Given the description of an element on the screen output the (x, y) to click on. 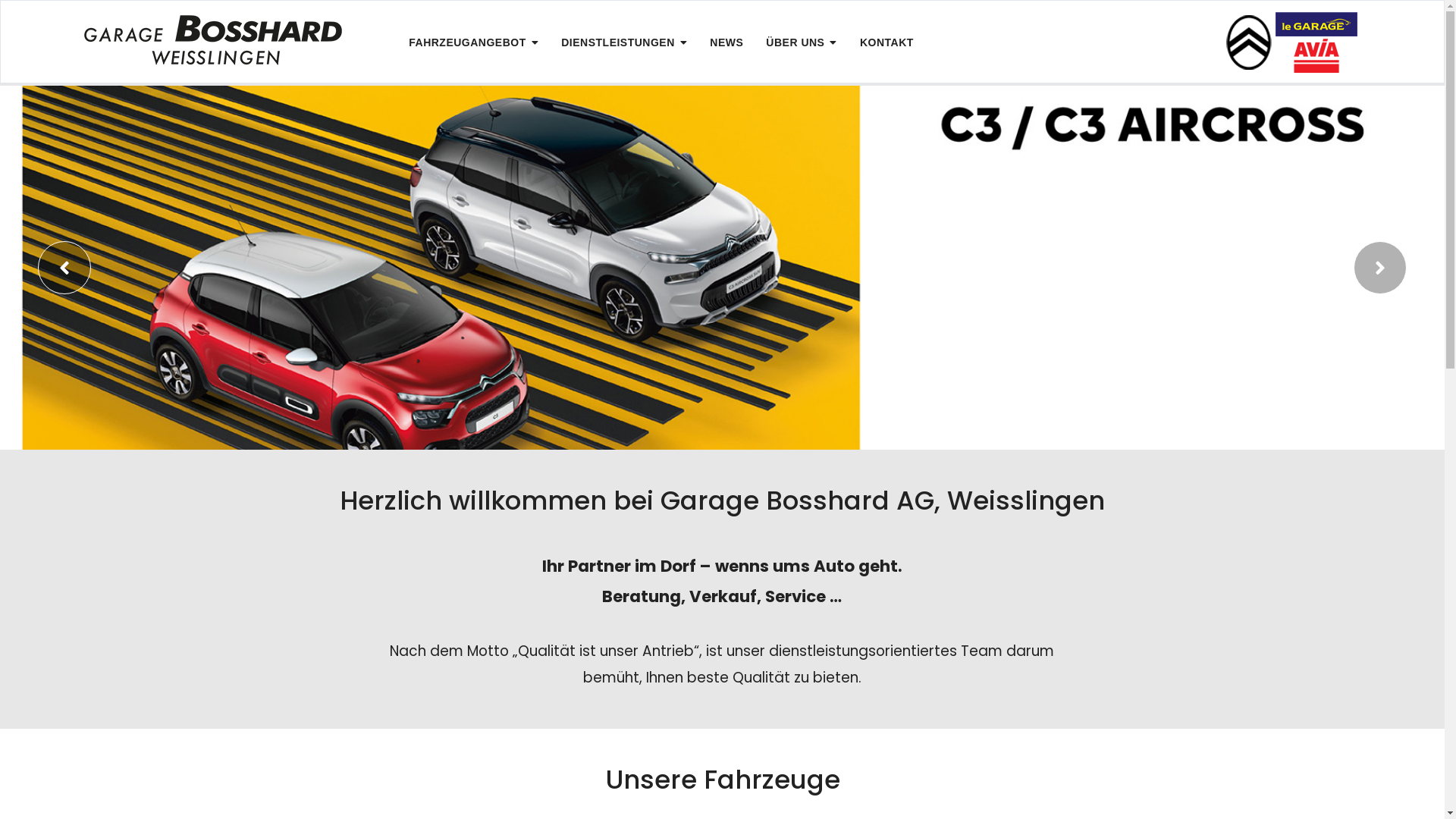
FAHRZEUGANGEBOT Element type: text (473, 42)
KONTAKT Element type: text (886, 42)
DIENSTLEISTUNGEN Element type: text (623, 42)
NEWS Element type: text (726, 42)
